Given the description of an element on the screen output the (x, y) to click on. 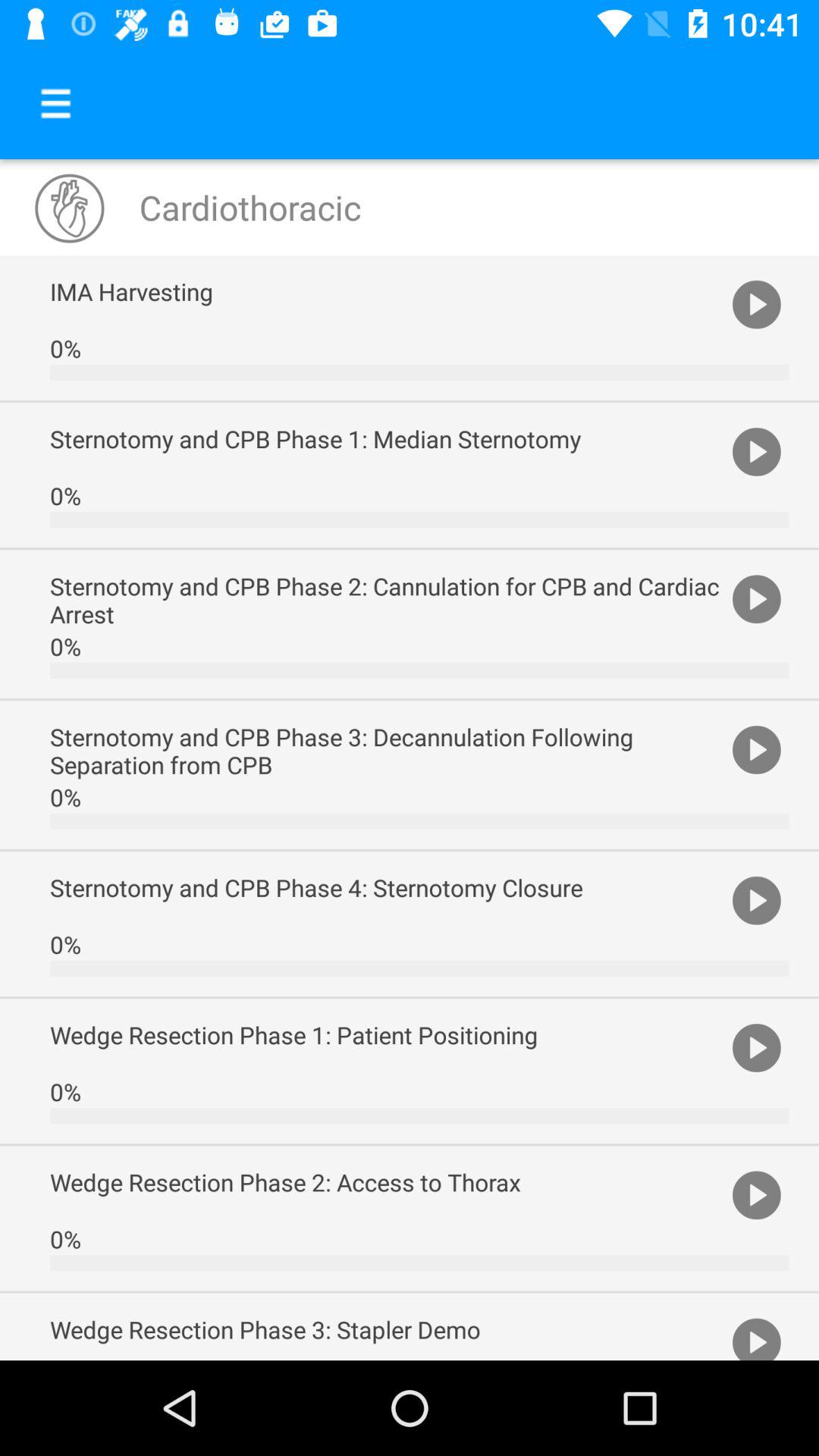
jump to the ima harvesting (387, 291)
